Given the description of an element on the screen output the (x, y) to click on. 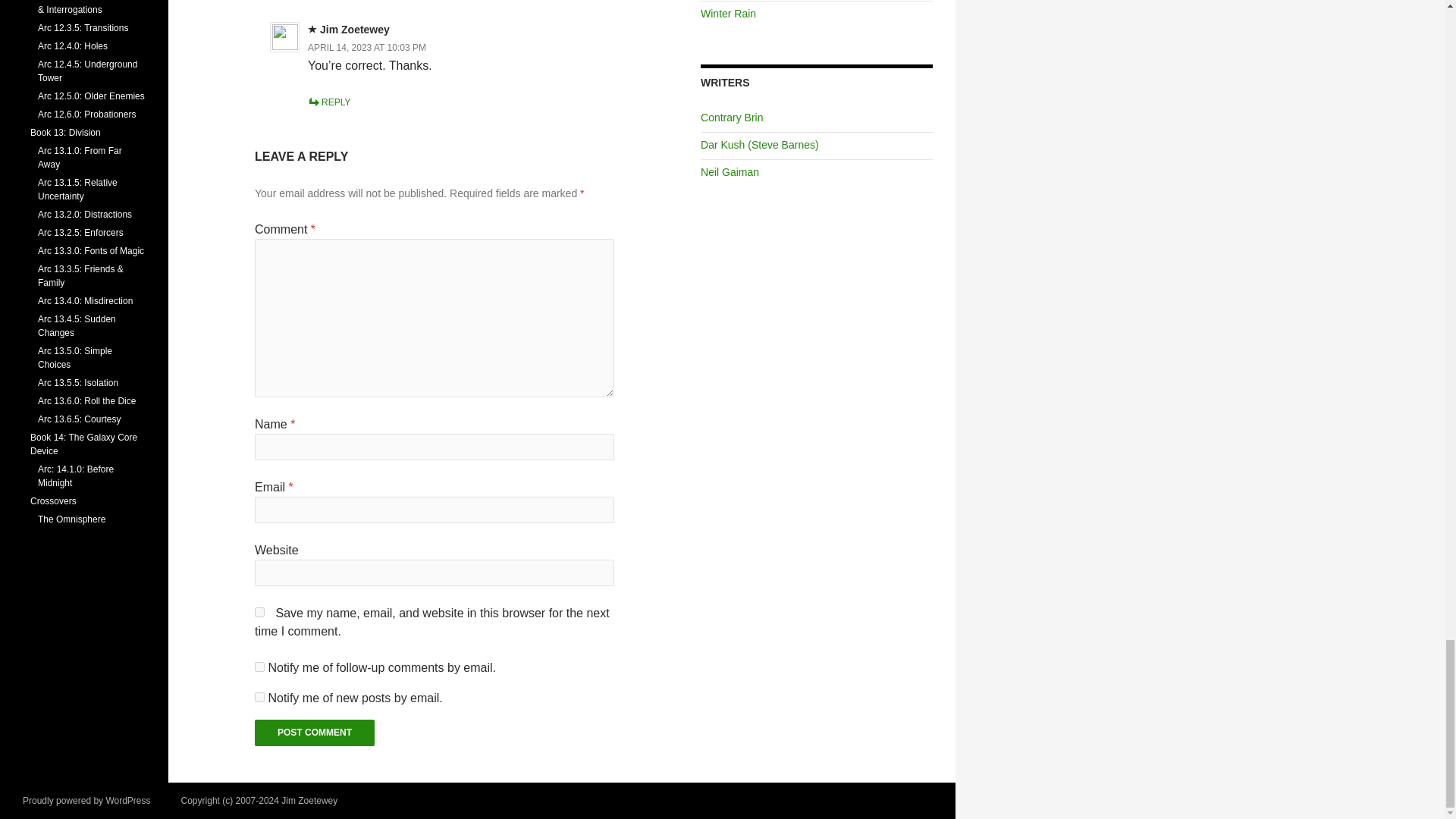
yes (259, 612)
subscribe (259, 666)
Post Comment (314, 732)
subscribe (259, 696)
